Given the description of an element on the screen output the (x, y) to click on. 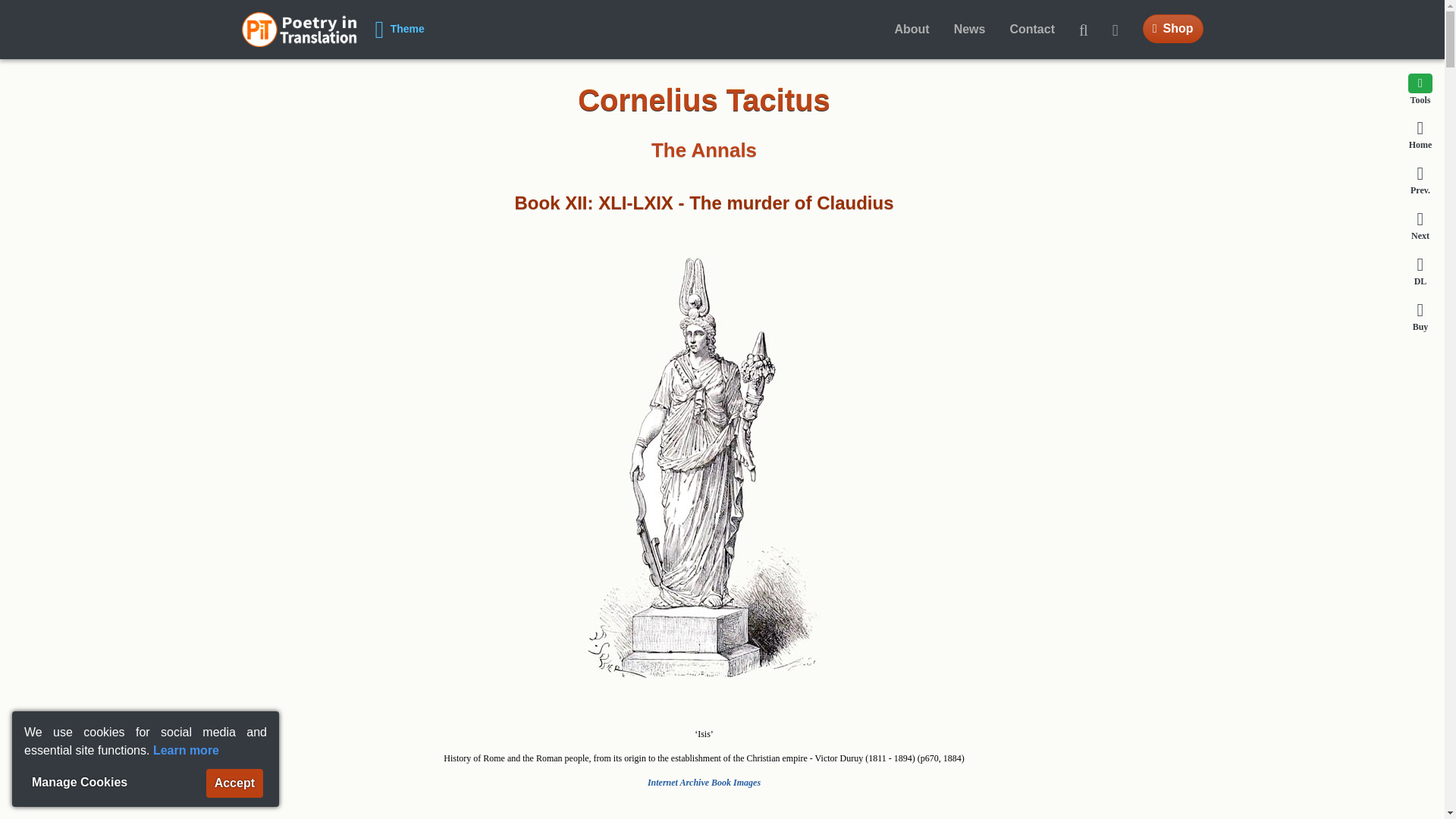
Account Login (1121, 29)
Buy (1420, 316)
News (969, 29)
Buy This Book (1420, 316)
Search Poetry in Translation (1083, 29)
Contact Us (1032, 29)
Download (1420, 270)
Prev. (1420, 179)
About Us (911, 29)
DL (1420, 270)
Shop (1173, 28)
Internet Archive Book Images (703, 782)
Contact (1032, 29)
About (911, 29)
Next (1420, 224)
